Given the description of an element on the screen output the (x, y) to click on. 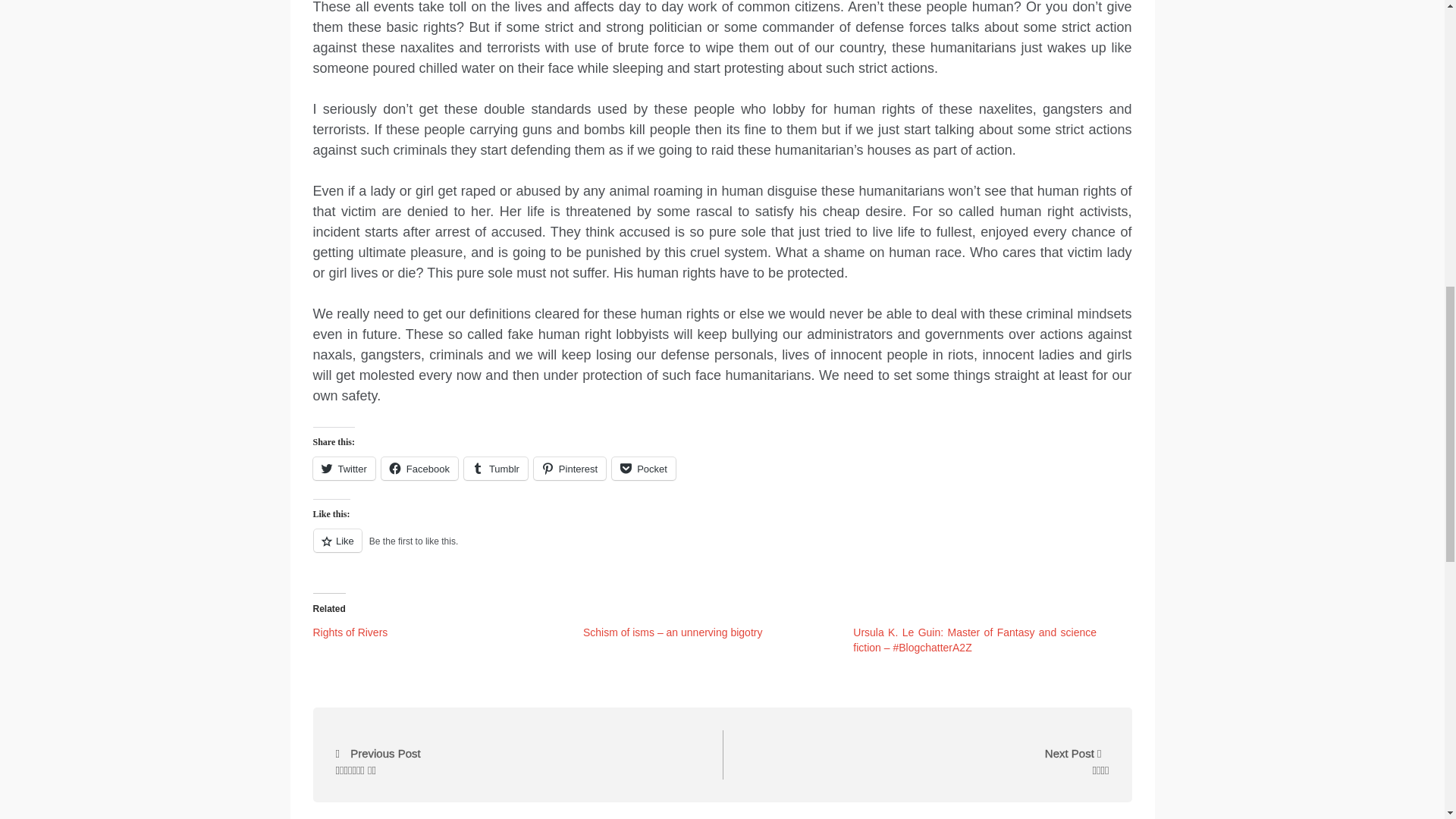
Click to share on Facebook (419, 468)
Rights of Rivers (350, 632)
Pocket (643, 468)
Rights of Rivers (350, 632)
Tumblr (495, 468)
Like or Reblog (722, 549)
Pinterest (569, 468)
Click to share on Twitter (343, 468)
Click to share on Tumblr (495, 468)
Facebook (419, 468)
Twitter (343, 468)
Click to share on Pocket (643, 468)
Click to share on Pinterest (569, 468)
